Given the description of an element on the screen output the (x, y) to click on. 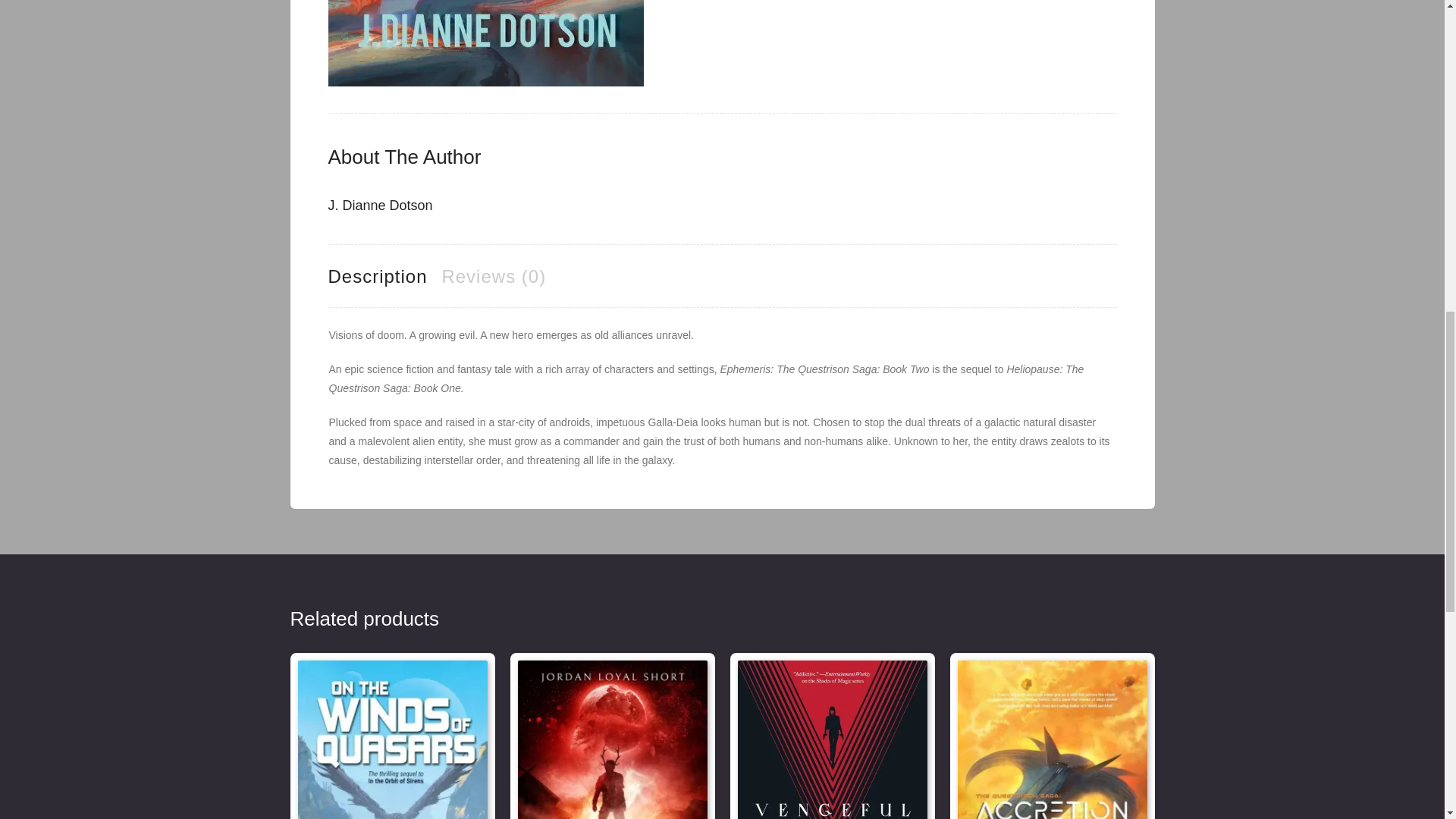
Description (376, 275)
Ephemeris (485, 43)
